Given the description of an element on the screen output the (x, y) to click on. 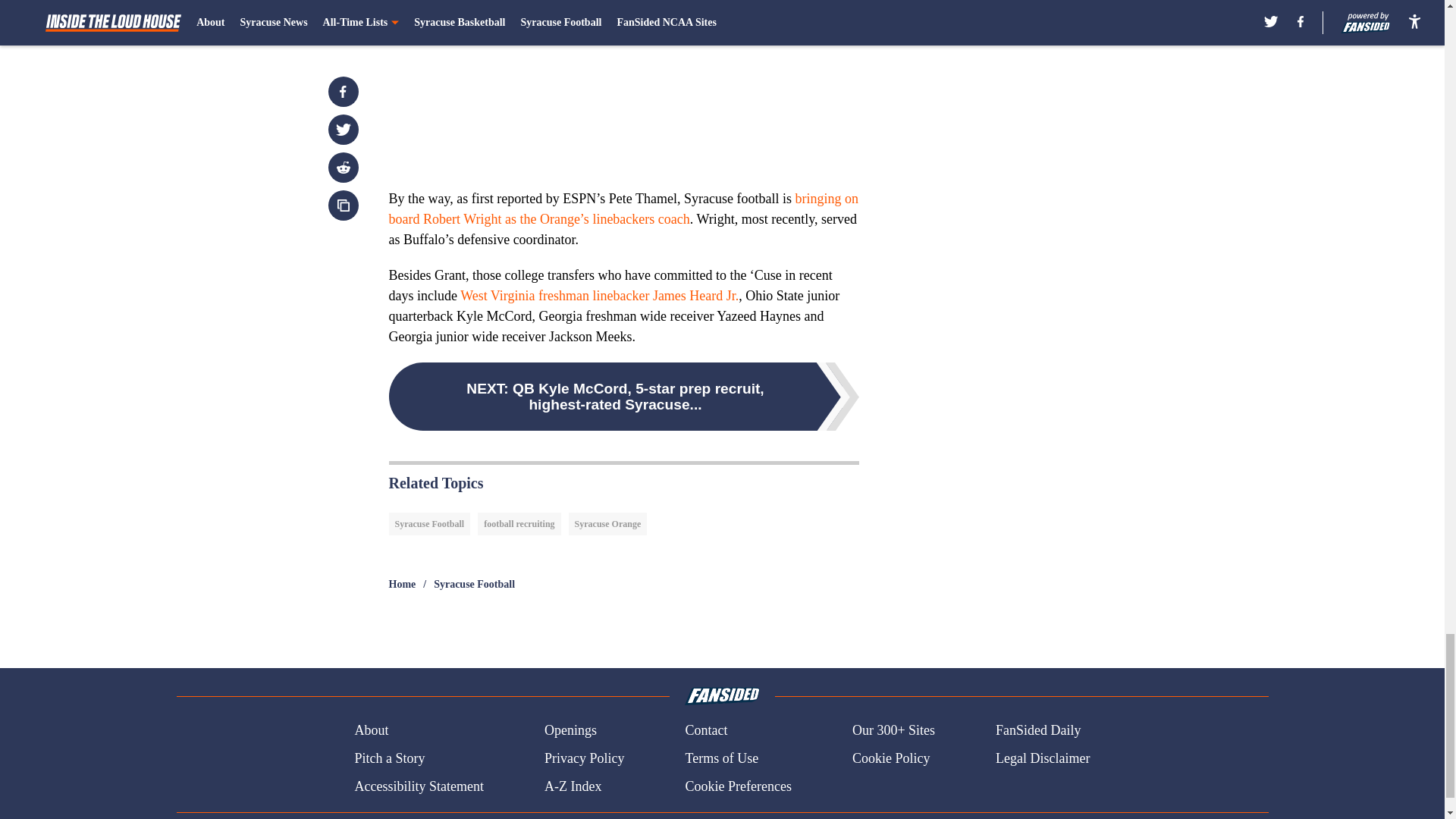
football recruiting (518, 523)
West Virginia freshman linebacker James Heard Jr. (599, 295)
Syracuse Football (429, 523)
Syracuse Orange (608, 523)
Home (401, 584)
